Given the description of an element on the screen output the (x, y) to click on. 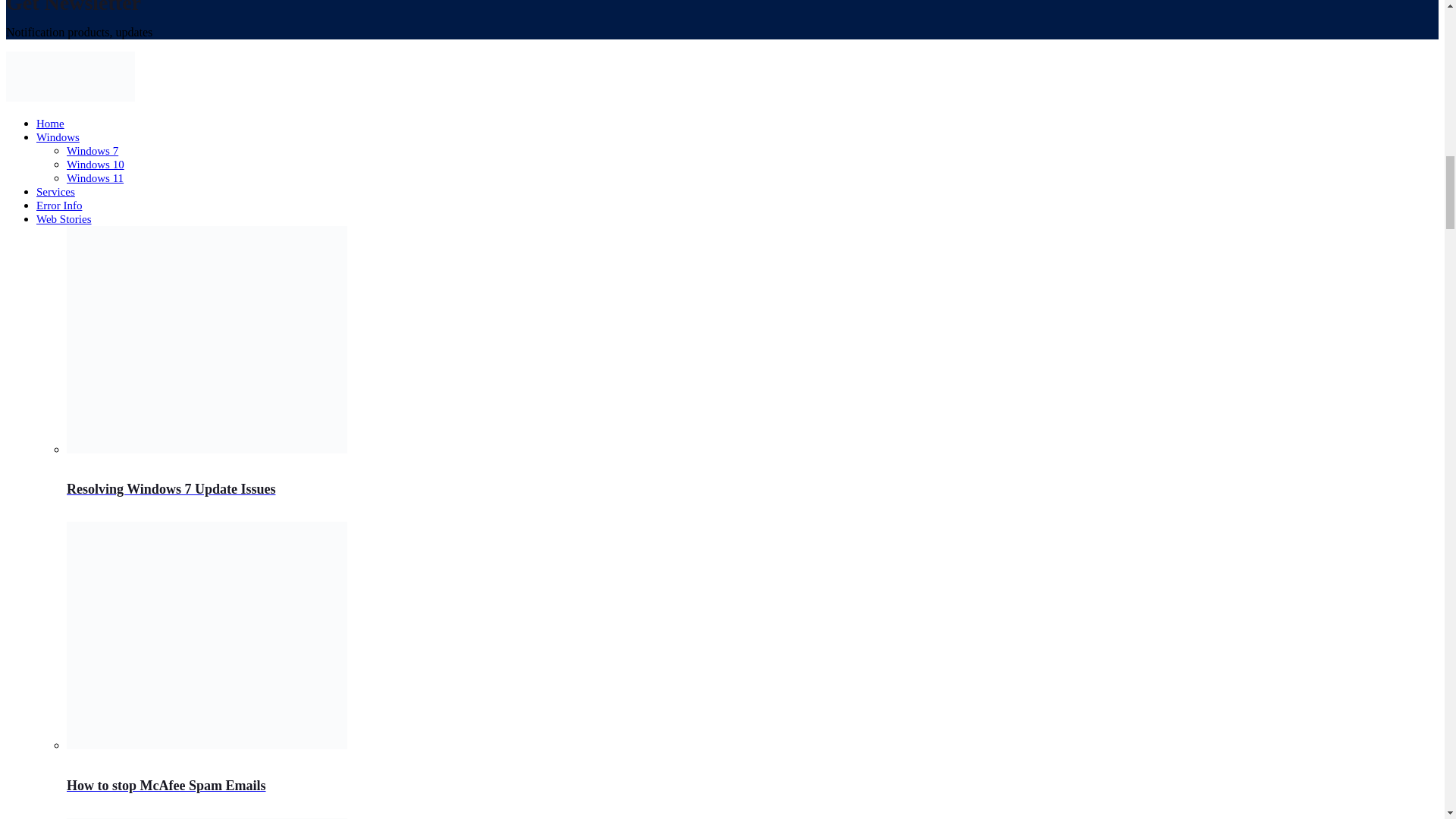
Windows 11 (94, 177)
Web Stories (63, 218)
Error Info (58, 205)
Windows 10 (94, 164)
Home (50, 123)
Windows 7 (91, 150)
Windows (58, 137)
Services (55, 191)
